Given the description of an element on the screen output the (x, y) to click on. 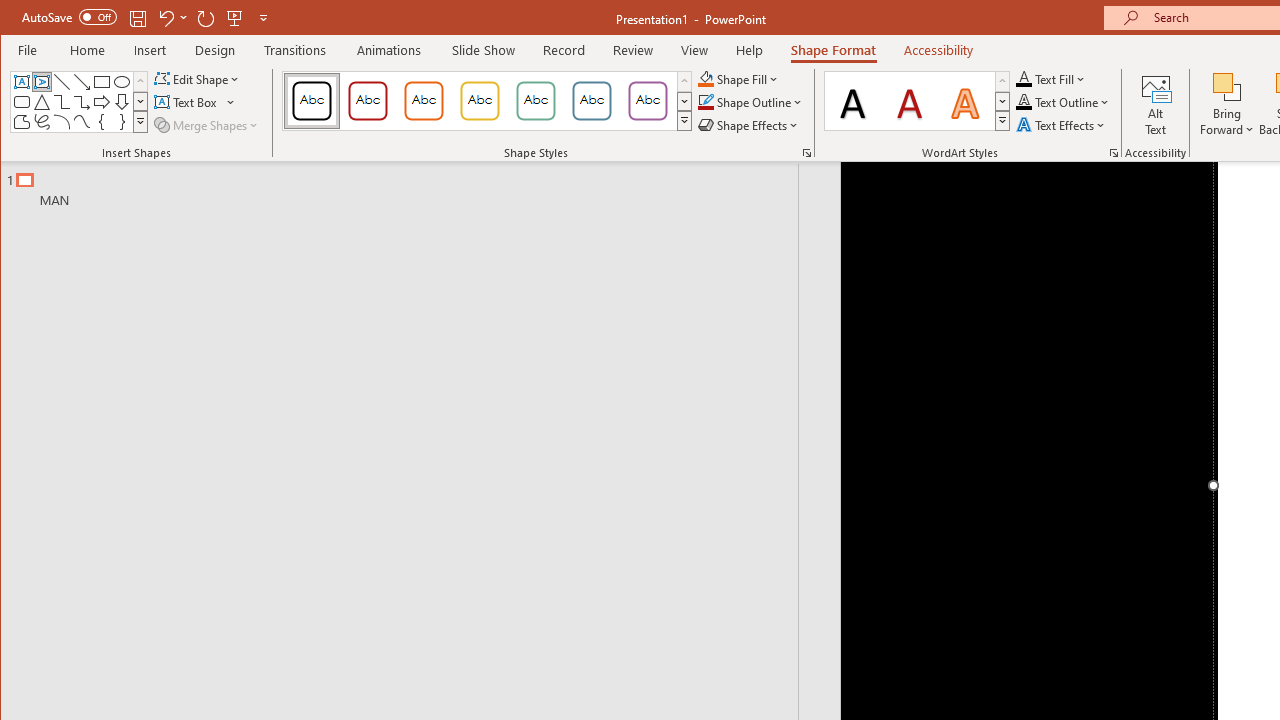
Text Outline RGB(0, 0, 0) (1023, 101)
